Given the description of an element on the screen output the (x, y) to click on. 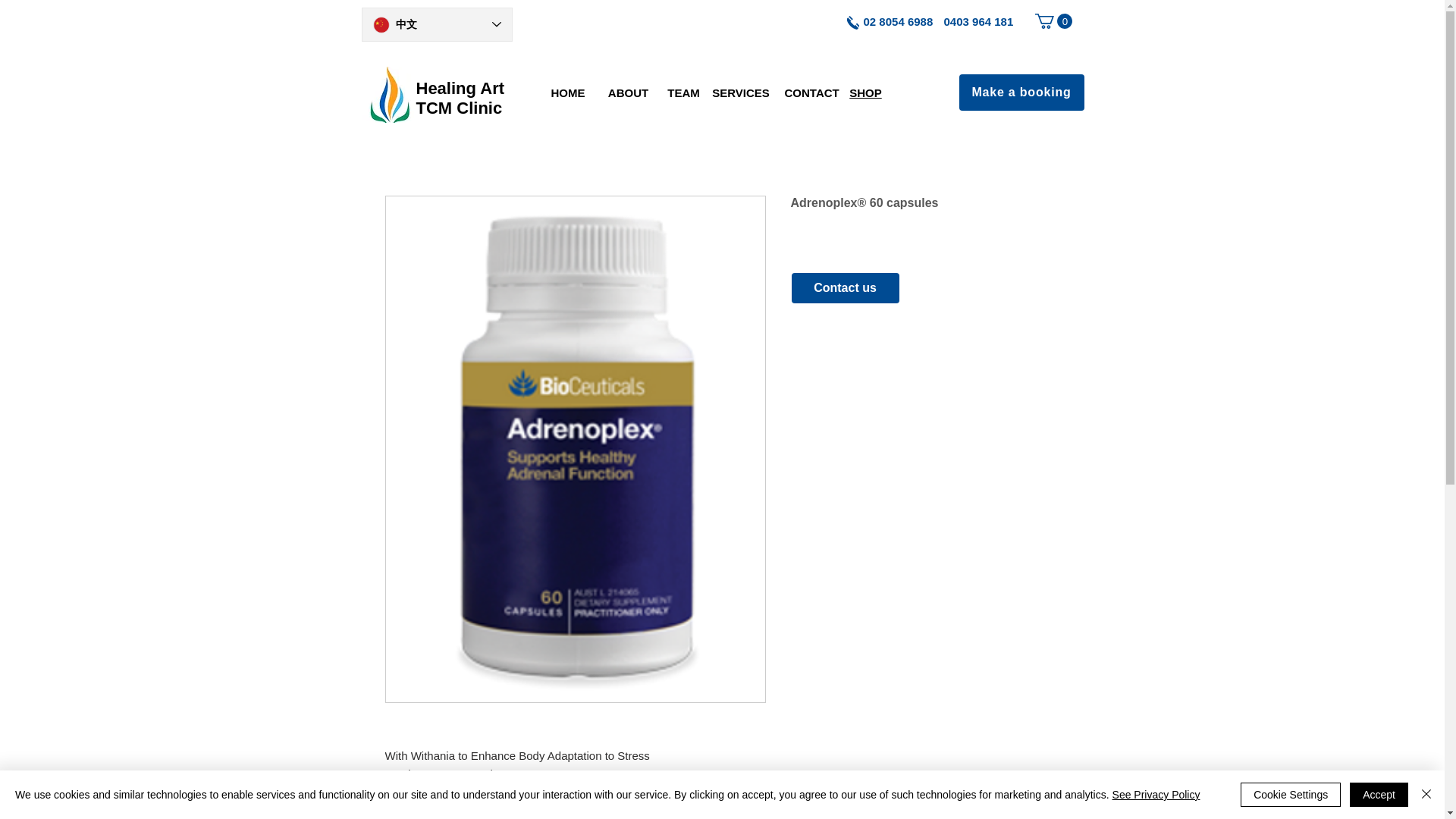
CONTACT (811, 92)
HOME (567, 92)
Cookie Settings (1290, 794)
See Privacy Policy (1155, 794)
SHOP (865, 92)
ABOUT (627, 92)
TEAM (683, 92)
SERVICES (740, 92)
Make a booking (1020, 92)
Accept (1378, 794)
0 (1052, 20)
02 8054 6988 (898, 21)
Contact us (845, 287)
0403 964 181 (458, 97)
